Given the description of an element on the screen output the (x, y) to click on. 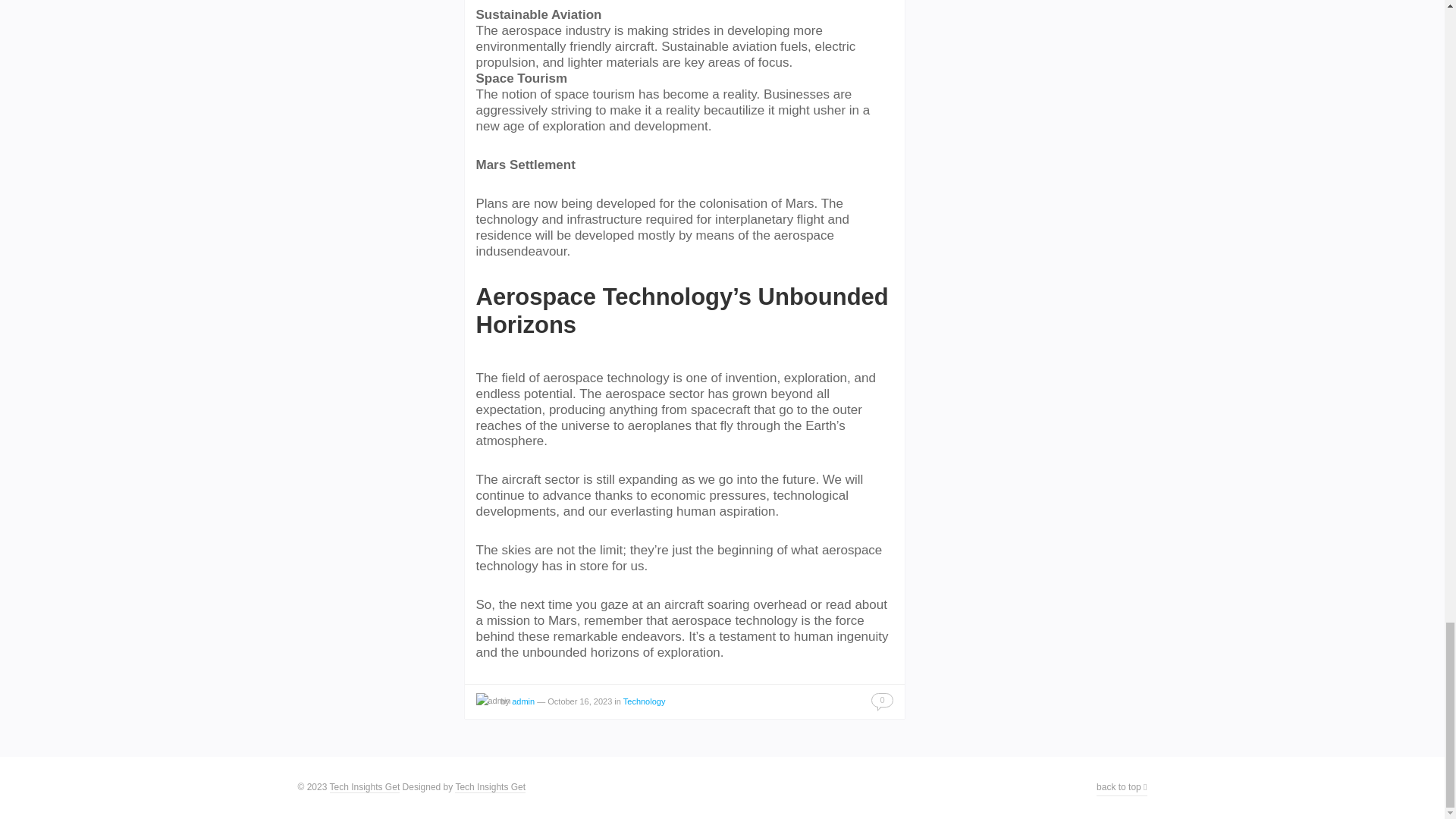
admin (523, 700)
0 (881, 699)
Technology (644, 700)
